Given the description of an element on the screen output the (x, y) to click on. 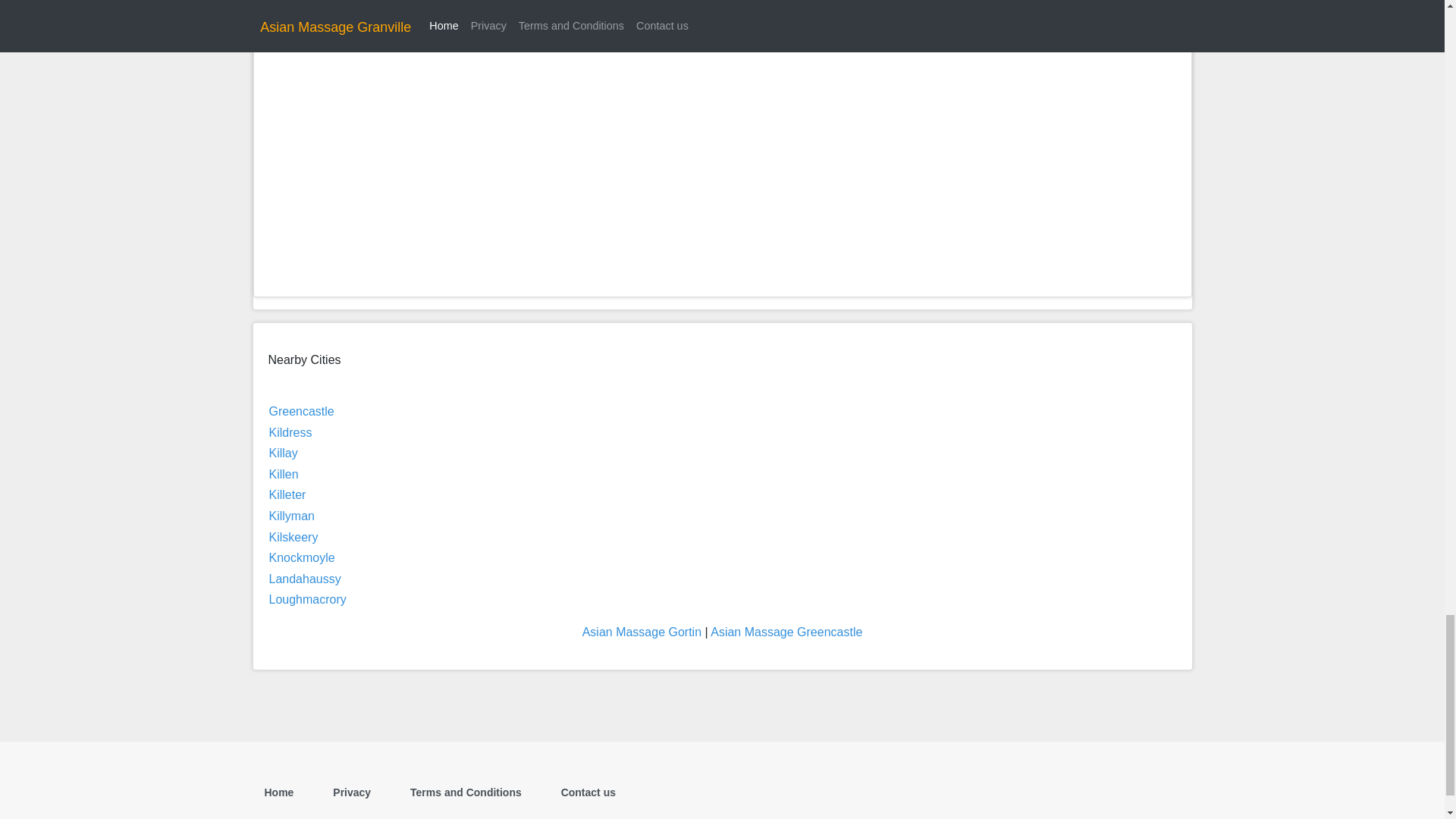
Kilskeery (292, 536)
Kildress (289, 431)
Landahaussy (303, 578)
Killeter (286, 494)
Killen (282, 473)
Knockmoyle (300, 557)
Loughmacrory (306, 599)
Killyman (290, 515)
Killay (282, 452)
Greencastle (300, 410)
Asian Massage Greencastle (785, 631)
Asian Massage Gortin (641, 631)
